Given the description of an element on the screen output the (x, y) to click on. 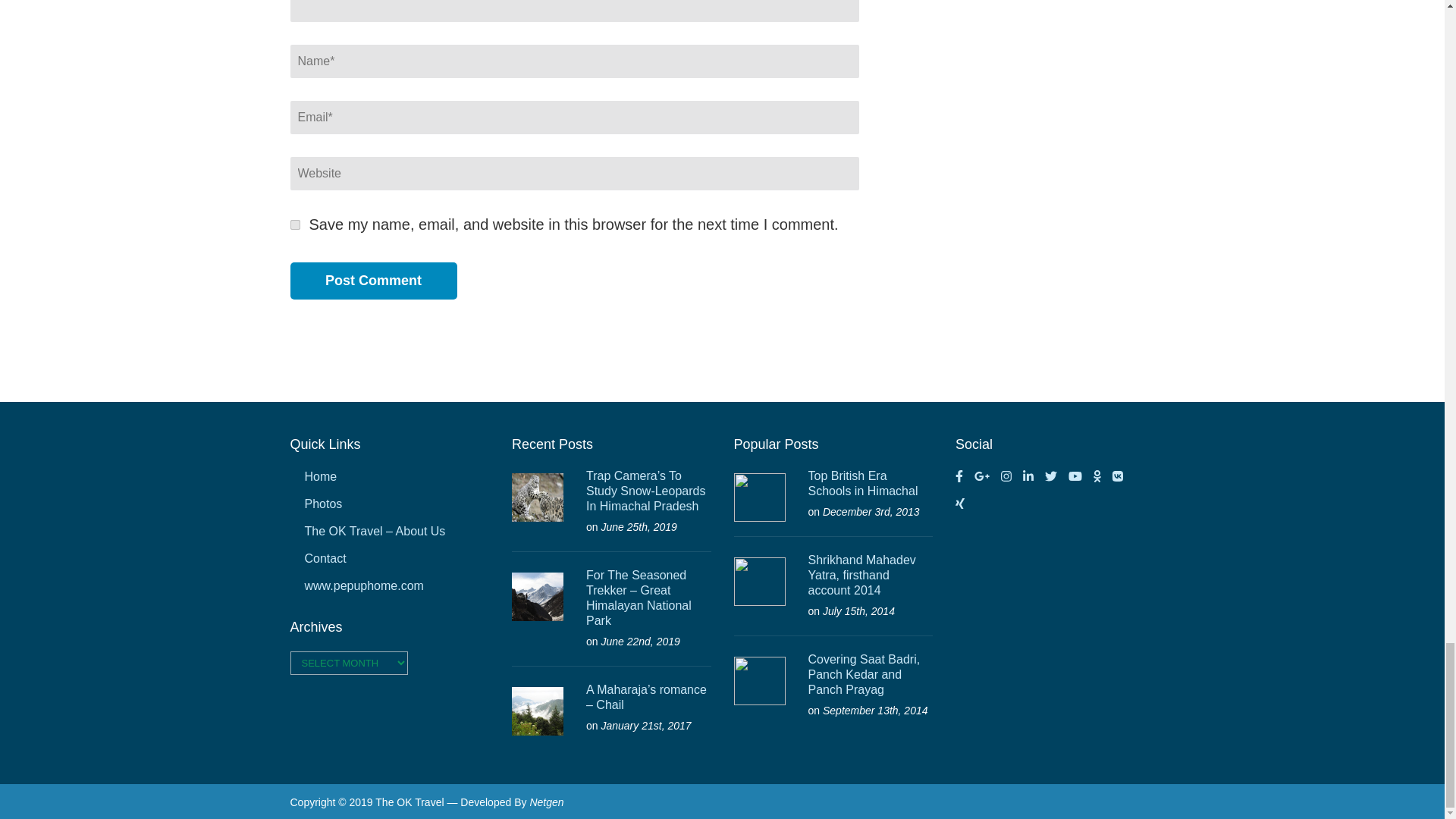
yes (294, 225)
Post Comment (373, 280)
